Given the description of an element on the screen output the (x, y) to click on. 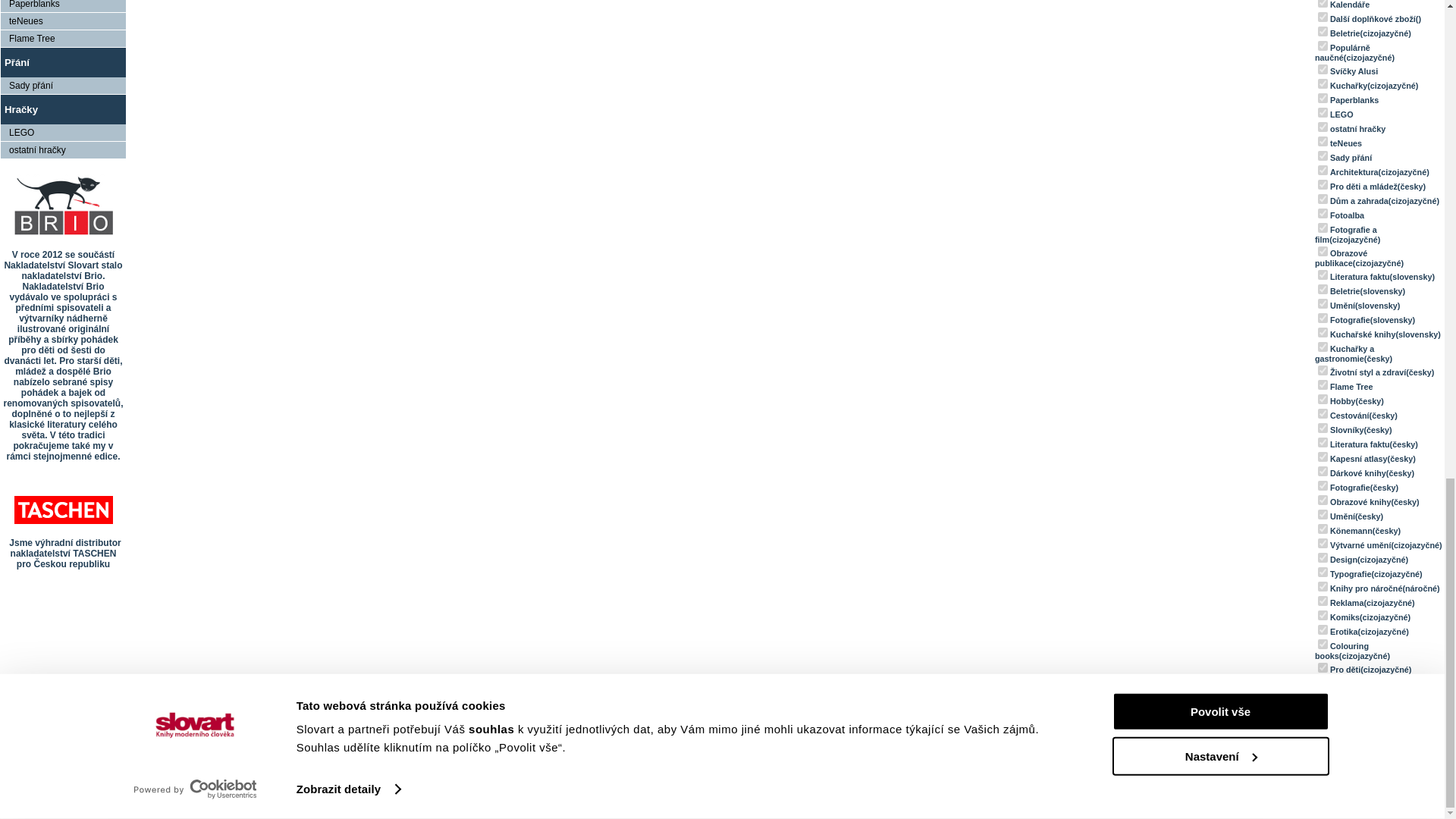
13080 (1322, 126)
14752 (1322, 45)
9799 (1322, 83)
10036 (1322, 98)
9820 (1322, 31)
22806 (1322, 17)
12305 (1322, 112)
15802 (1322, 3)
13483 (1322, 69)
